Given the description of an element on the screen output the (x, y) to click on. 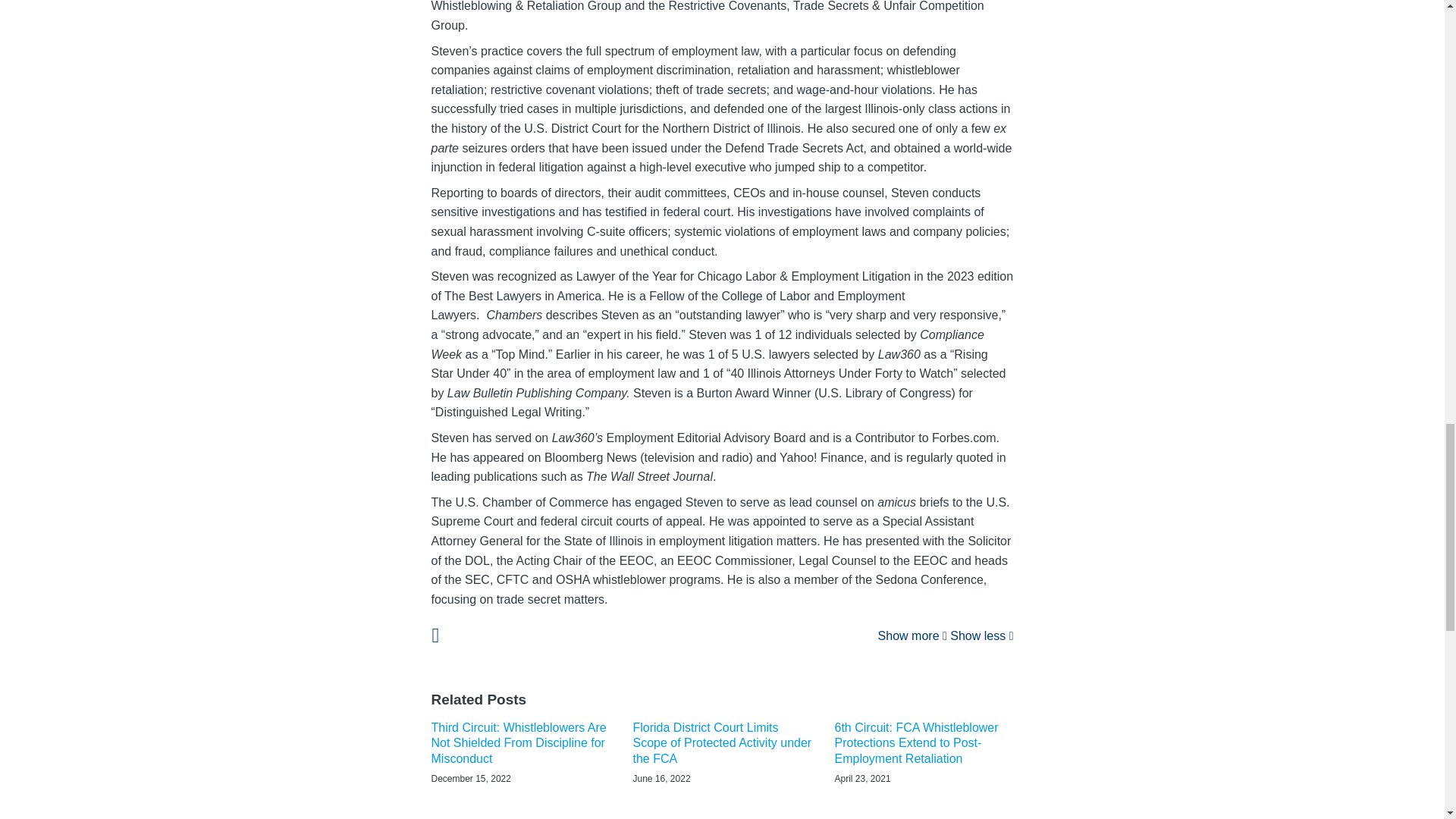
Show more (912, 635)
Show less (981, 635)
